Given the description of an element on the screen output the (x, y) to click on. 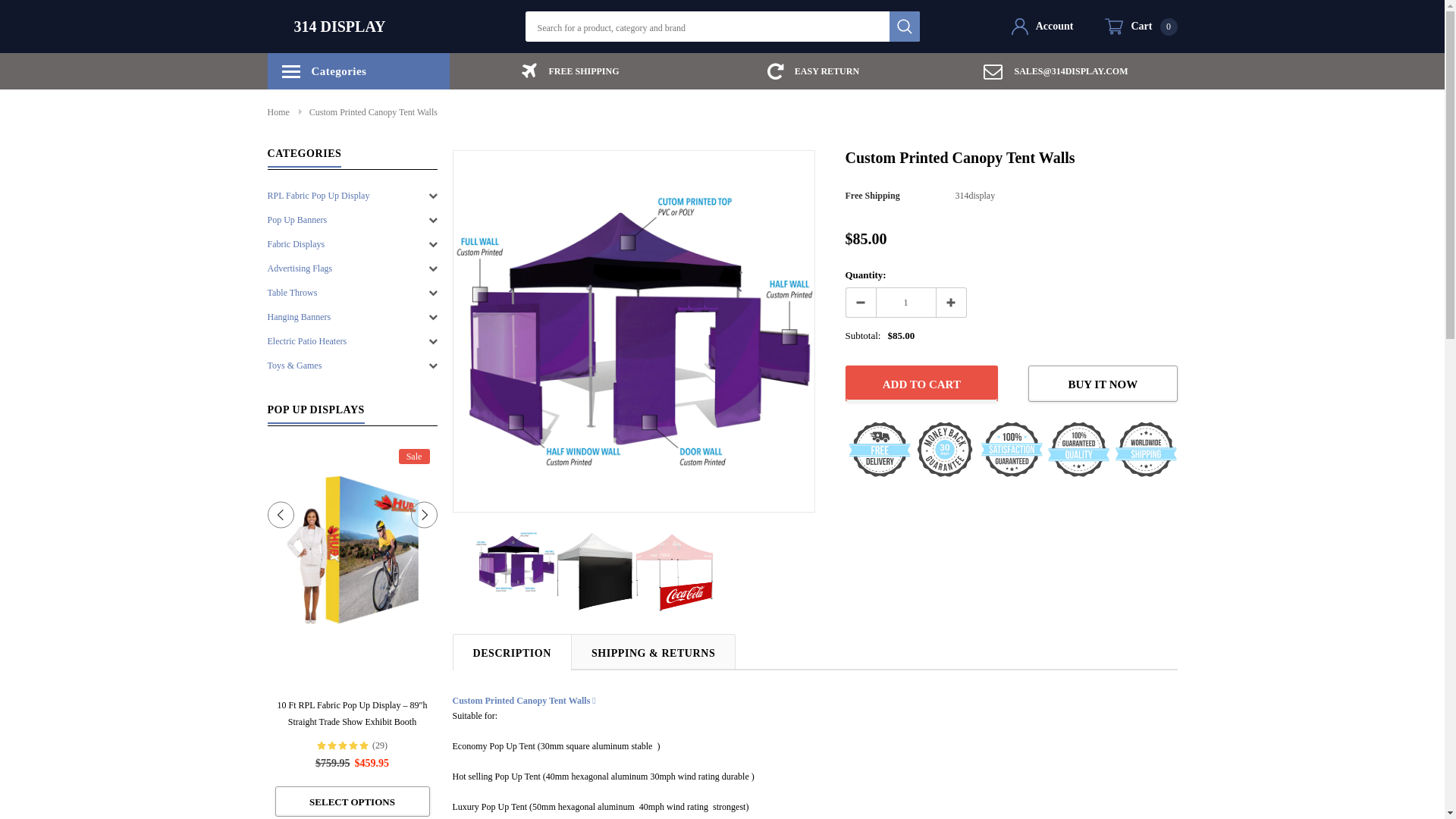
Table Throws Element type: text (291, 292)
Select options Element type: text (351, 801)
Account Element type: text (1042, 26)
Toys & Games Element type: text (293, 365)
Select options Element type: text (521, 801)
Select options Element type: text (861, 801)
SHIPPING & RETURNS Element type: text (653, 650)
Electric Patio Heaters Element type: text (306, 340)
Select options Element type: text (1030, 801)
Add to Cart Element type: text (920, 383)
314 DISPLAY Element type: text (339, 26)
Home Element type: text (277, 111)
Select options Element type: text (181, 784)
RPL Fabric Pop Up Display Element type: text (317, 195)
Select options Element type: text (1200, 801)
EASY RETURN Element type: text (812, 71)
DESCRIPTION Element type: text (511, 650)
FREE SHIPPING Element type: text (570, 71)
Advertising Flags Element type: text (299, 268)
Pop Up Banners Element type: text (296, 219)
Select options Element type: text (1370, 801)
Fabric Displays Element type: text (295, 243)
Cart
0 Element type: text (1140, 26)
Hanging Banners Element type: text (298, 316)
Categories Element type: text (357, 71)
Select options Element type: text (691, 801)
BUY IT NOW Element type: text (1102, 383)
SALES@314DISPLAY.COM Element type: text (1055, 71)
